Given the description of an element on the screen output the (x, y) to click on. 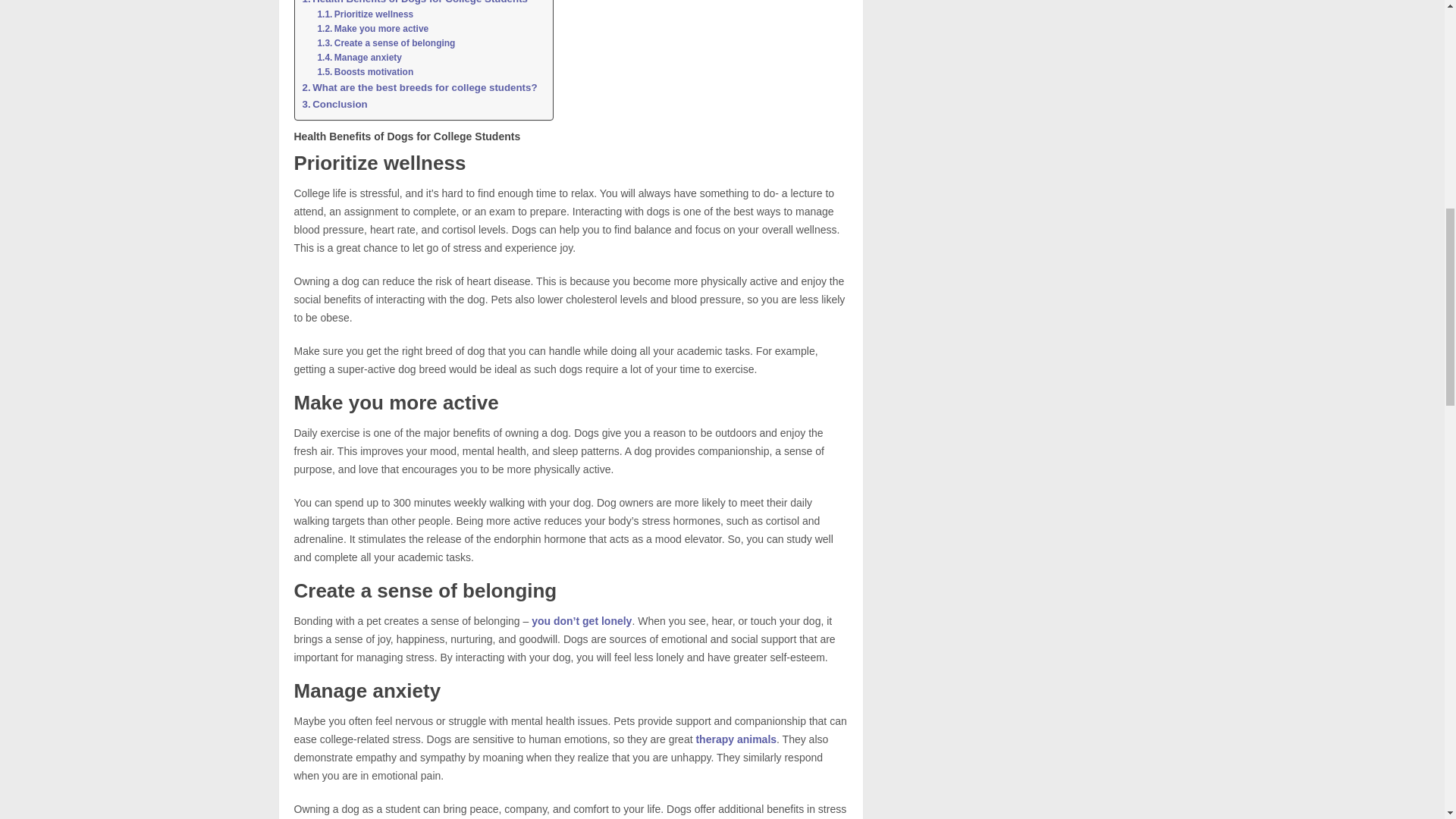
Manage anxiety (359, 57)
Conclusion (333, 104)
Create a sense of belonging (385, 43)
What are the best breeds for college students? (419, 87)
Make you more active (372, 29)
Make you more active (372, 29)
Prioritize wellness (365, 14)
Conclusion (333, 104)
Health Benefits of Dogs for College Students (414, 3)
Create a sense of belonging (385, 43)
Boosts motivation (365, 72)
Health Benefits of Dogs for College Students (414, 3)
Boosts motivation (365, 72)
Prioritize wellness (365, 14)
therapy animals (735, 739)
